Given the description of an element on the screen output the (x, y) to click on. 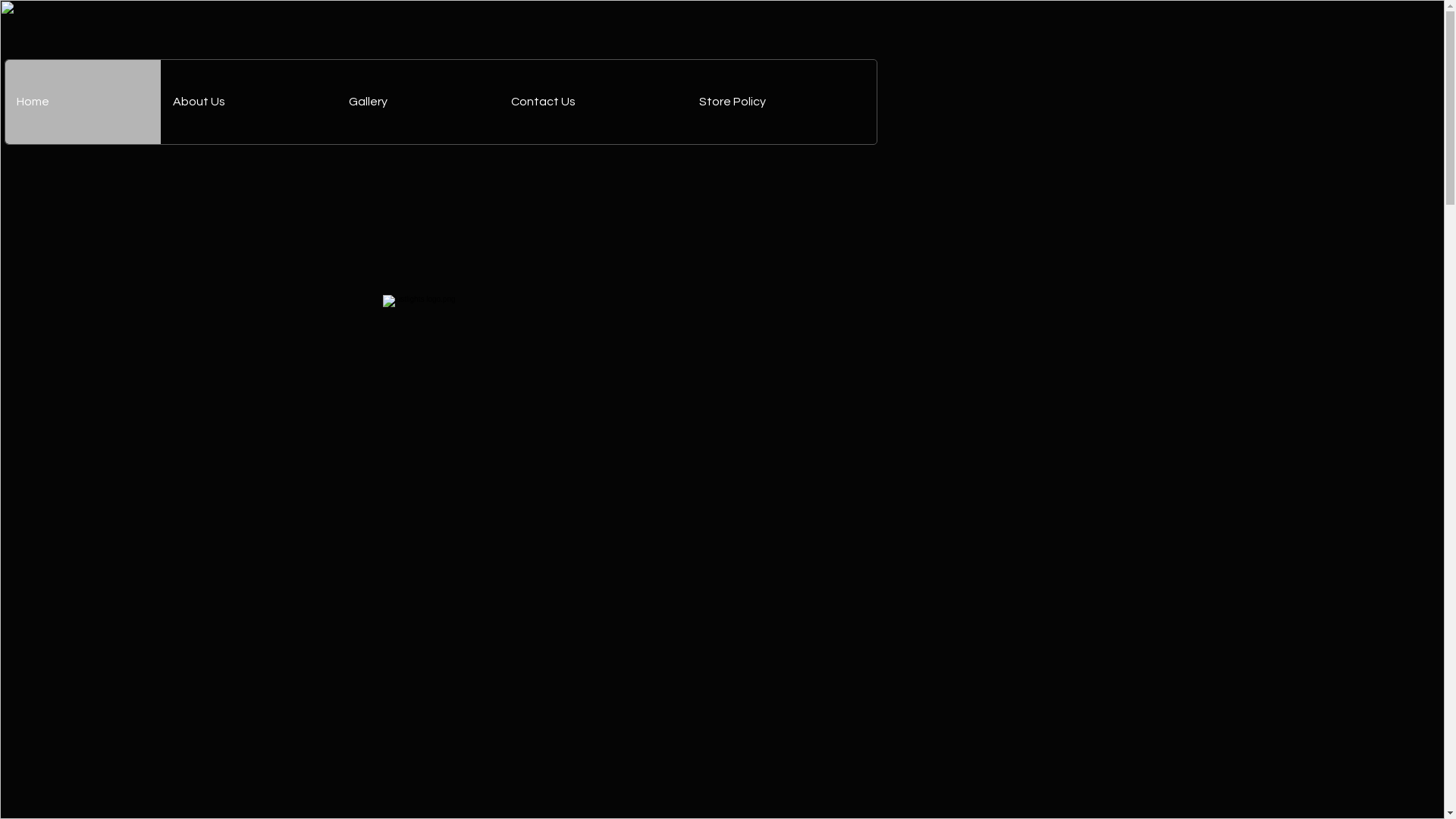
About Us Element type: text (248, 101)
Store Policy Element type: text (781, 101)
Contact Us Element type: text (592, 101)
Gallery Element type: text (417, 101)
Home Element type: text (82, 101)
